Given the description of an element on the screen output the (x, y) to click on. 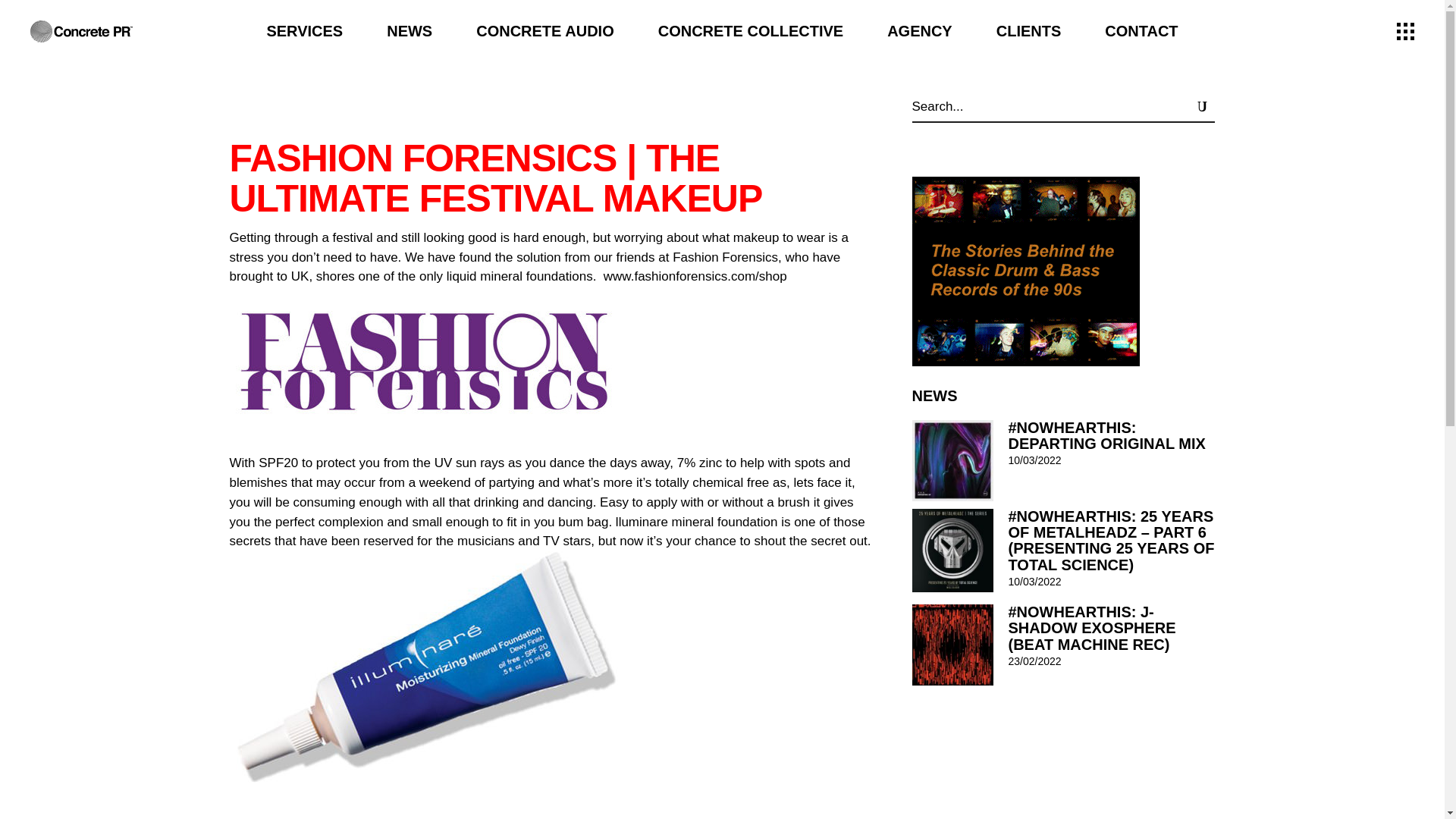
AGENCY (919, 31)
NEWS (409, 31)
CLIENTS (1028, 31)
SERVICES (304, 31)
CONCRETE AUDIO (544, 31)
CONTACT (1141, 31)
Search for: (1042, 106)
CONCRETE COLLECTIVE (750, 31)
